Given the description of an element on the screen output the (x, y) to click on. 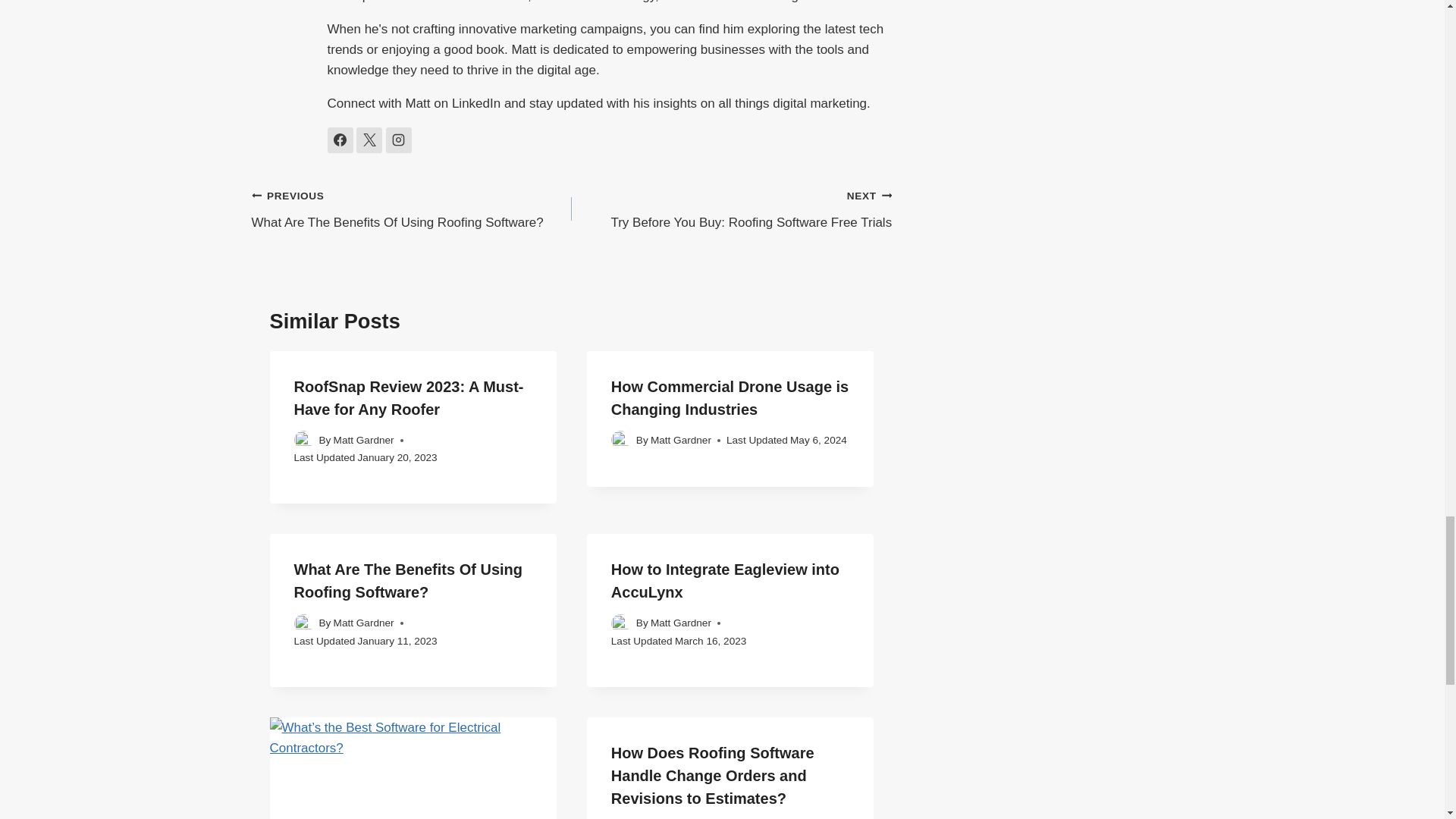
How Commercial Drone Usage is Changing Industries (731, 208)
Follow Matt Gardner on X formerly Twitter (729, 397)
RoofSnap Review 2023: A Must-Have for Any Roofer (368, 140)
Follow Matt Gardner on Facebook (411, 208)
Matt Gardner (409, 397)
Matt Gardner (340, 140)
What Are The Benefits Of Using Roofing Software? (363, 439)
Follow Matt Gardner on Instagram (680, 439)
